Given the description of an element on the screen output the (x, y) to click on. 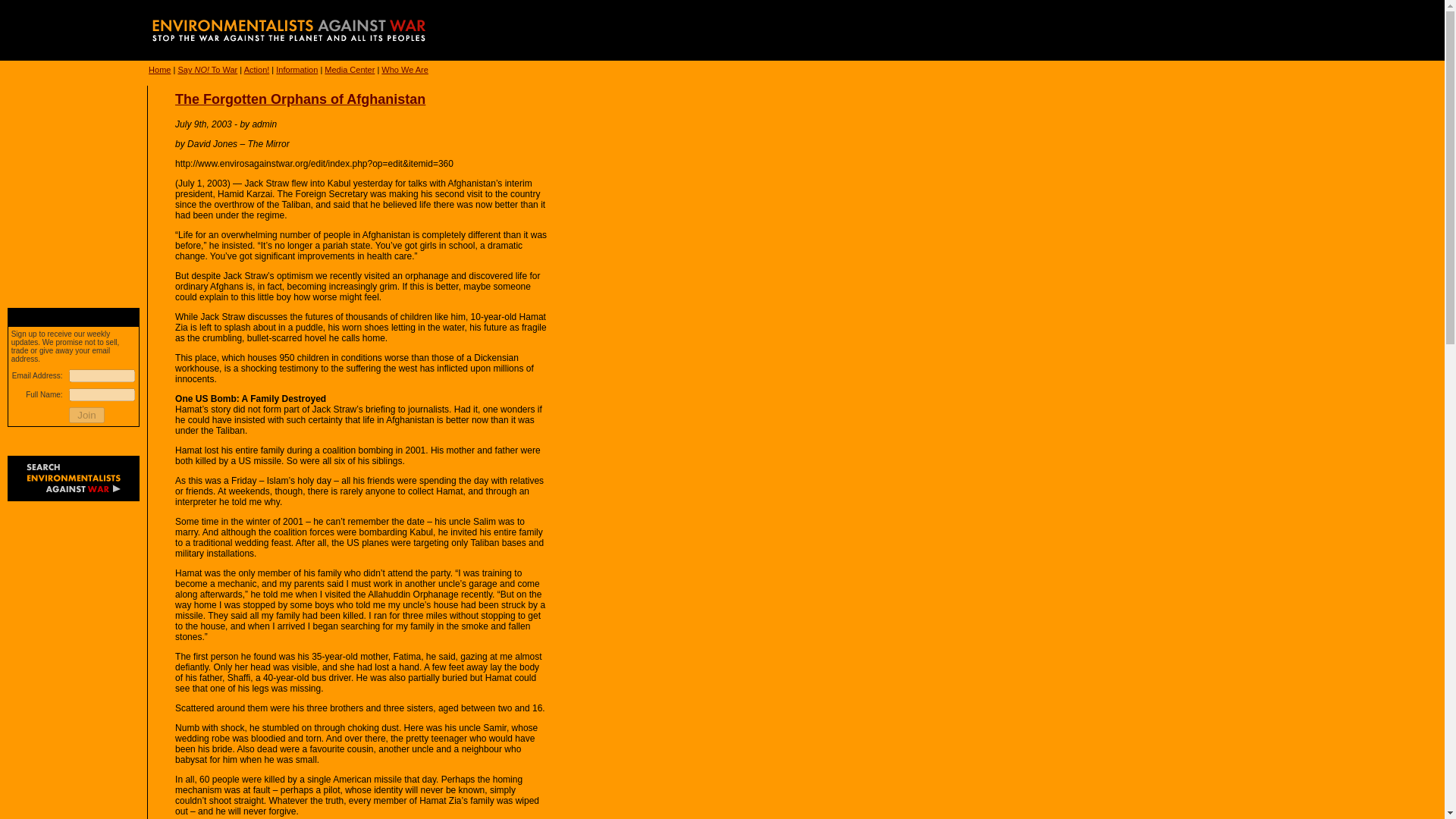
Action! (256, 69)
The Forgotten Orphans of Afghanistan (299, 99)
Permanent Link to The Forgotten Orphans of Afghanistan (299, 99)
Information (296, 69)
 Join  (86, 415)
 Join  (86, 415)
Media Center (349, 69)
Say NO! To War (207, 69)
Home (159, 69)
Who We Are (404, 69)
